Given the description of an element on the screen output the (x, y) to click on. 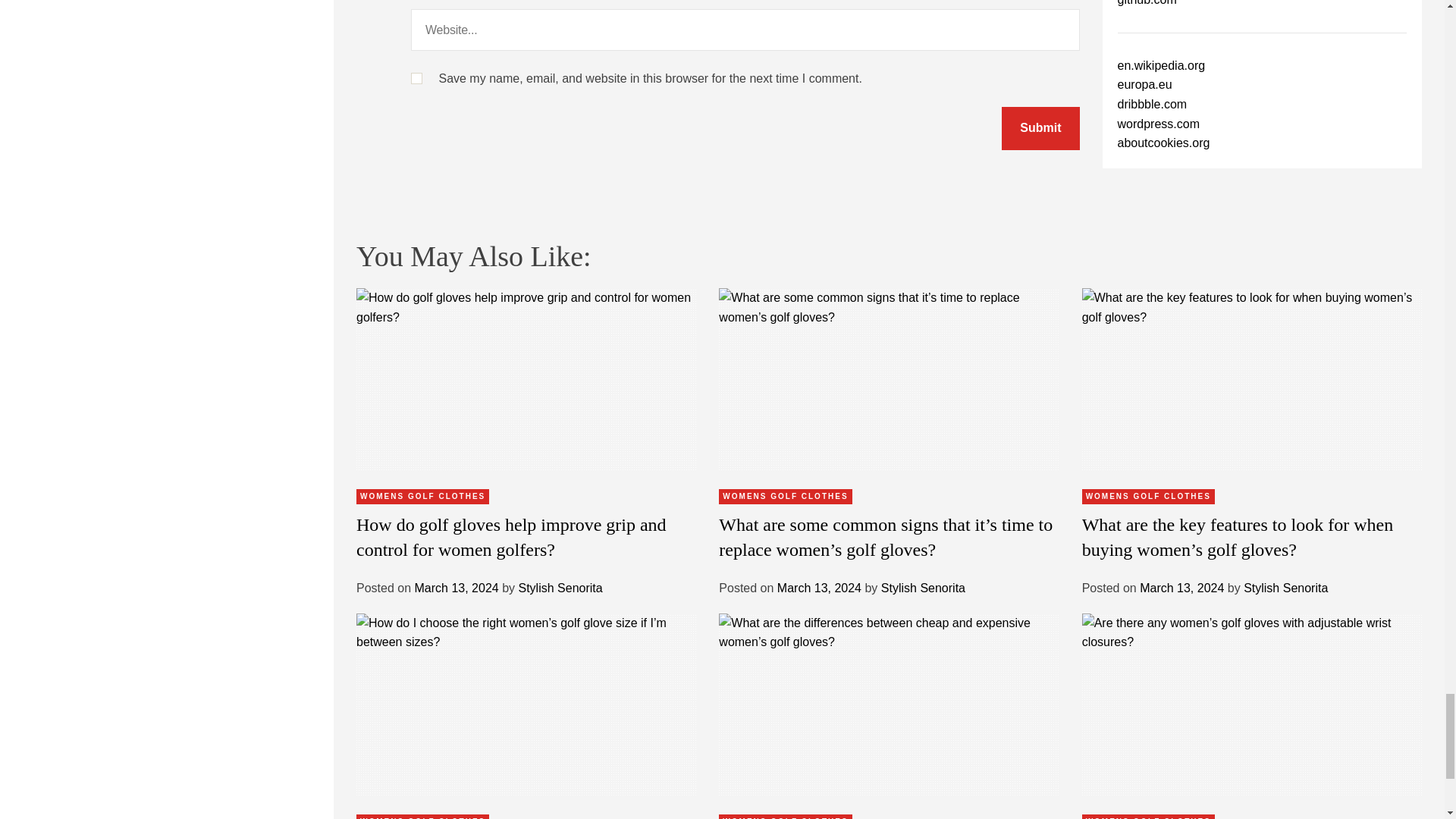
Submit (1039, 128)
Submit (1039, 128)
yes (416, 78)
